Given the description of an element on the screen output the (x, y) to click on. 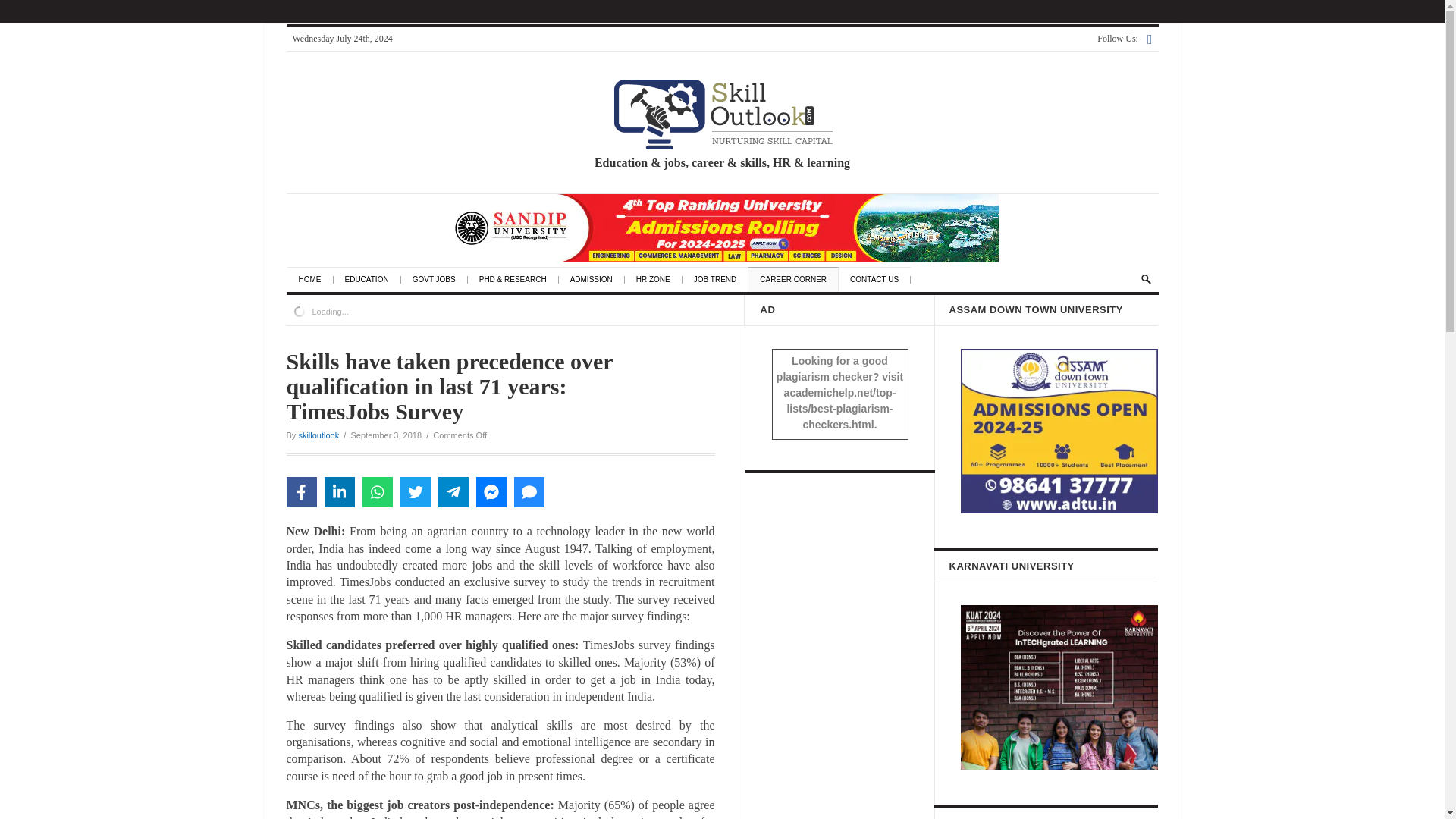
Karnavati University (1058, 687)
HR ZONE (659, 279)
JOB TREND (721, 279)
GOVT JOBS (439, 279)
EDUCATION (371, 279)
CAREER CORNER (799, 279)
HOME (315, 279)
ADMISSION (597, 279)
CONTACT US (880, 279)
Posts by skilloutlook (318, 434)
skilloutlook (318, 434)
